Given the description of an element on the screen output the (x, y) to click on. 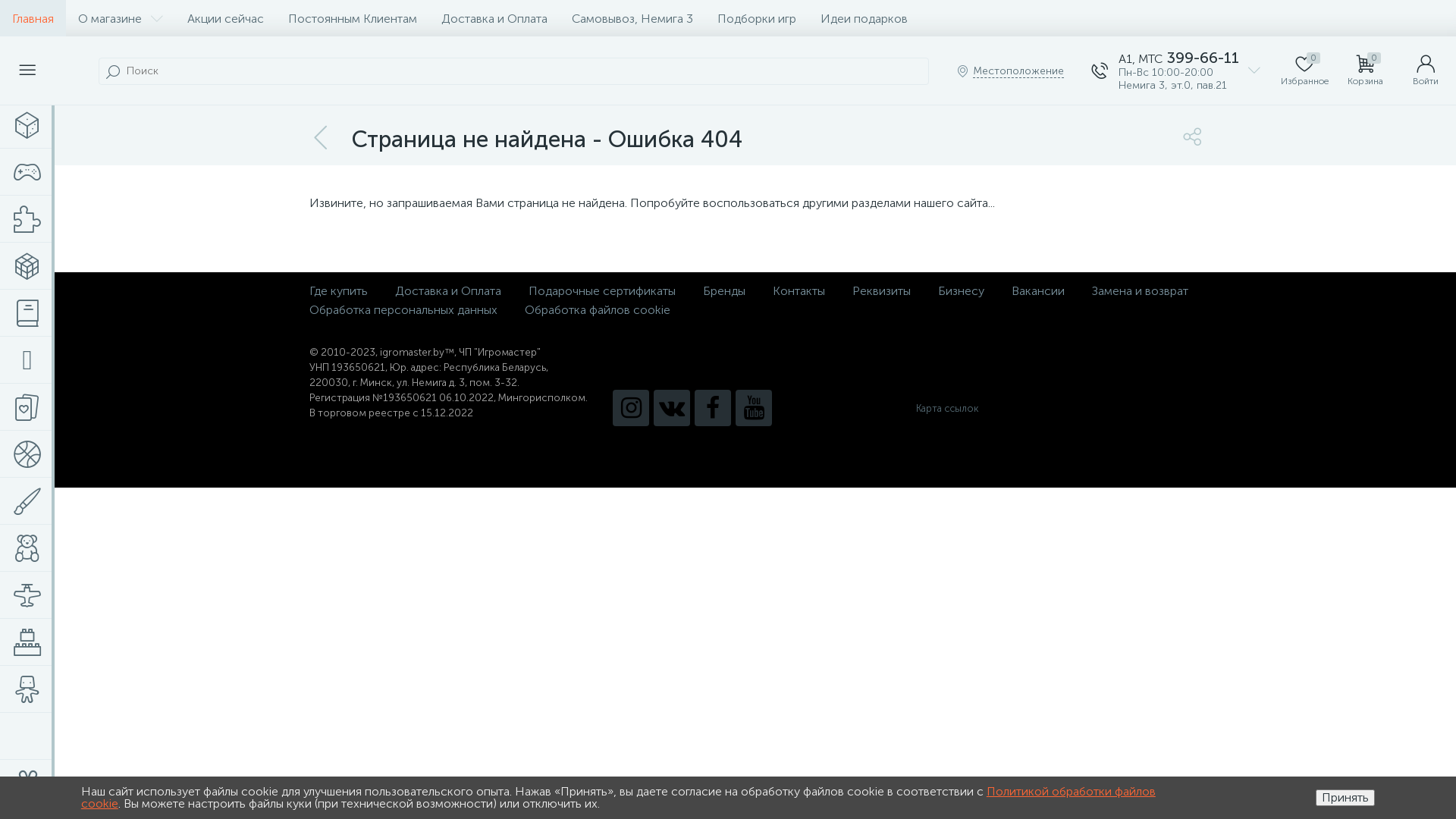
YouTube Element type: hover (753, 407)
Instagram Element type: hover (630, 407)
Facebook Element type: hover (712, 407)
